Given the description of an element on the screen output the (x, y) to click on. 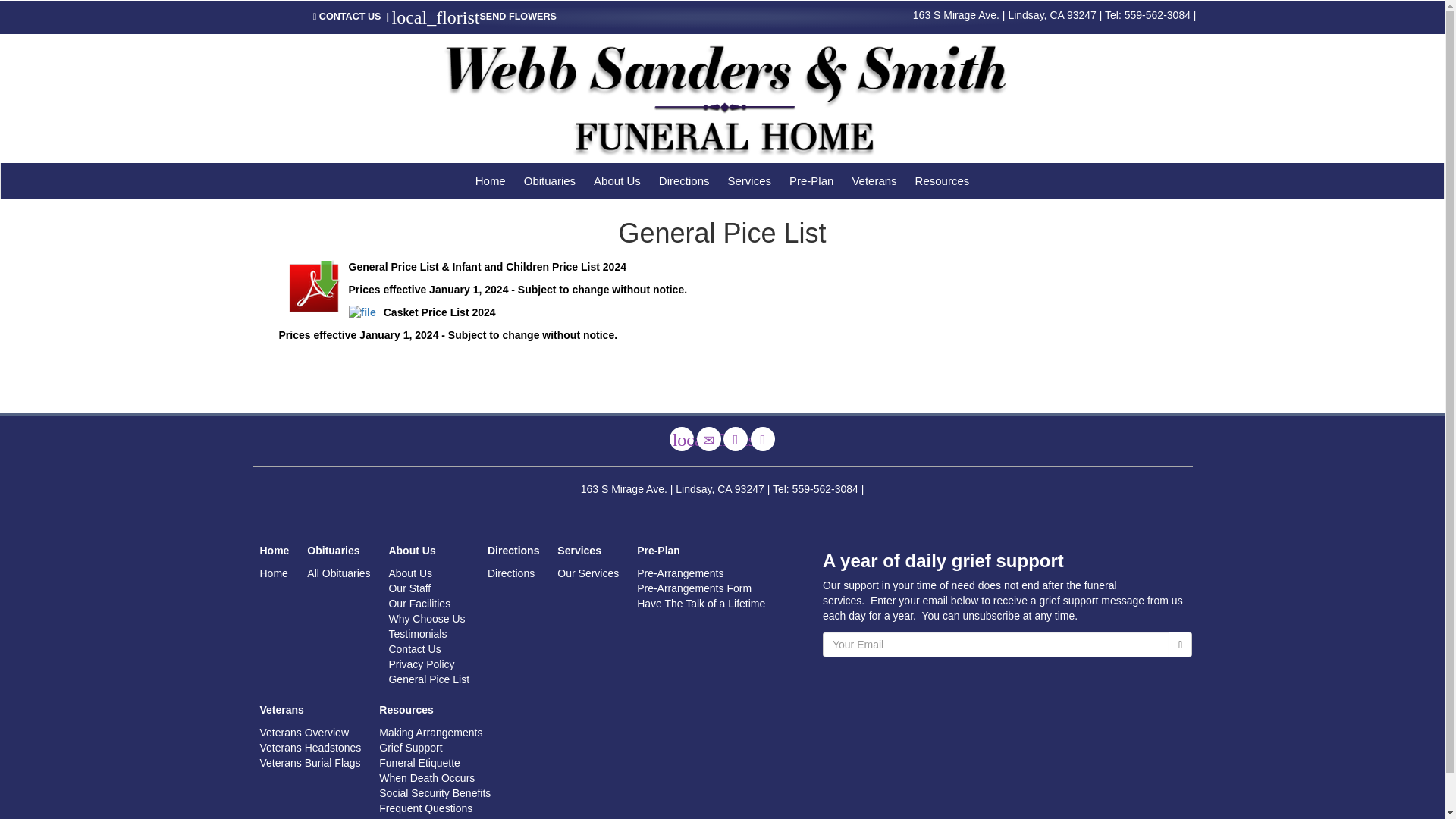
Button (762, 438)
Services (748, 180)
Resources (941, 180)
Home (490, 180)
559-562-3084 (1157, 15)
Directions (684, 180)
About Us (617, 180)
Obituaries (550, 180)
Veterans (874, 180)
Directions (735, 438)
